Given the description of an element on the screen output the (x, y) to click on. 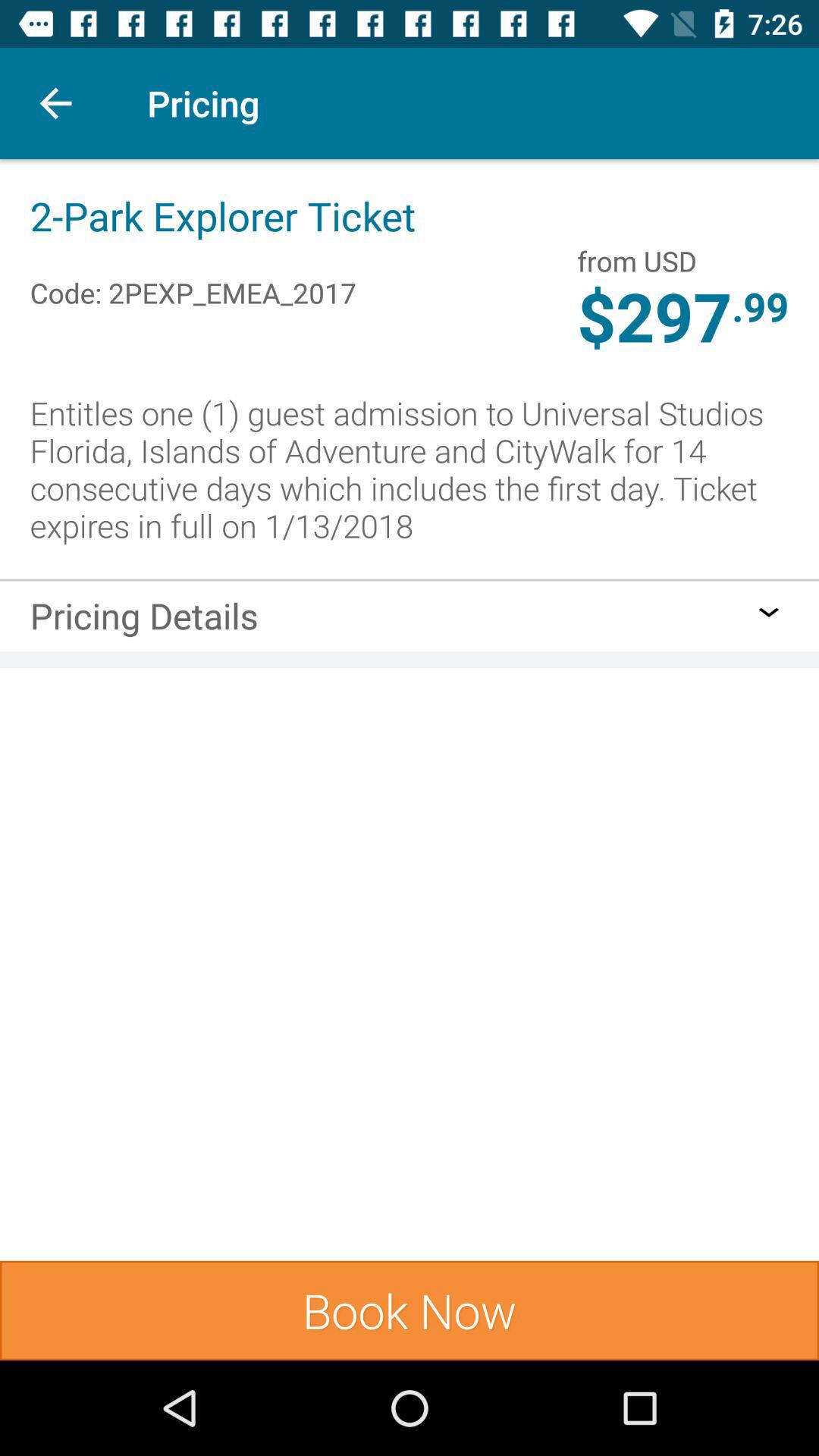
tap item on the right (768, 612)
